Given the description of an element on the screen output the (x, y) to click on. 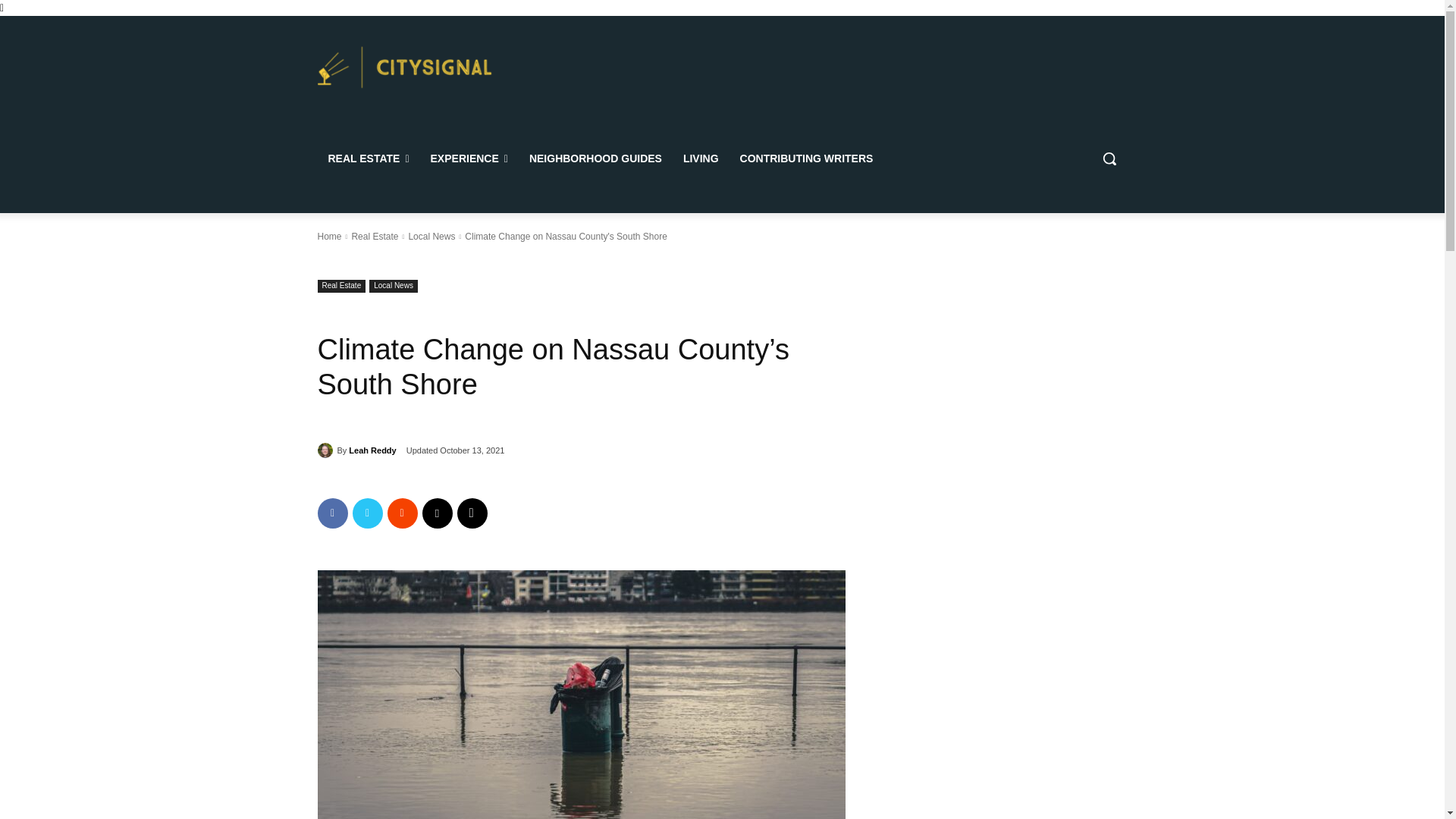
EXPERIENCE (469, 158)
Leah Reddy (326, 450)
REAL ESTATE (368, 158)
View all posts in Local News (430, 235)
CONTRIBUTING WRITERS (806, 158)
Facebook (332, 512)
View all posts in Real Estate (373, 235)
Copy URL (471, 512)
NEIGHBORHOOD GUIDES (595, 158)
LIVING (700, 158)
Twitter (366, 512)
Email (436, 512)
ReddIt (401, 512)
